Given the description of an element on the screen output the (x, y) to click on. 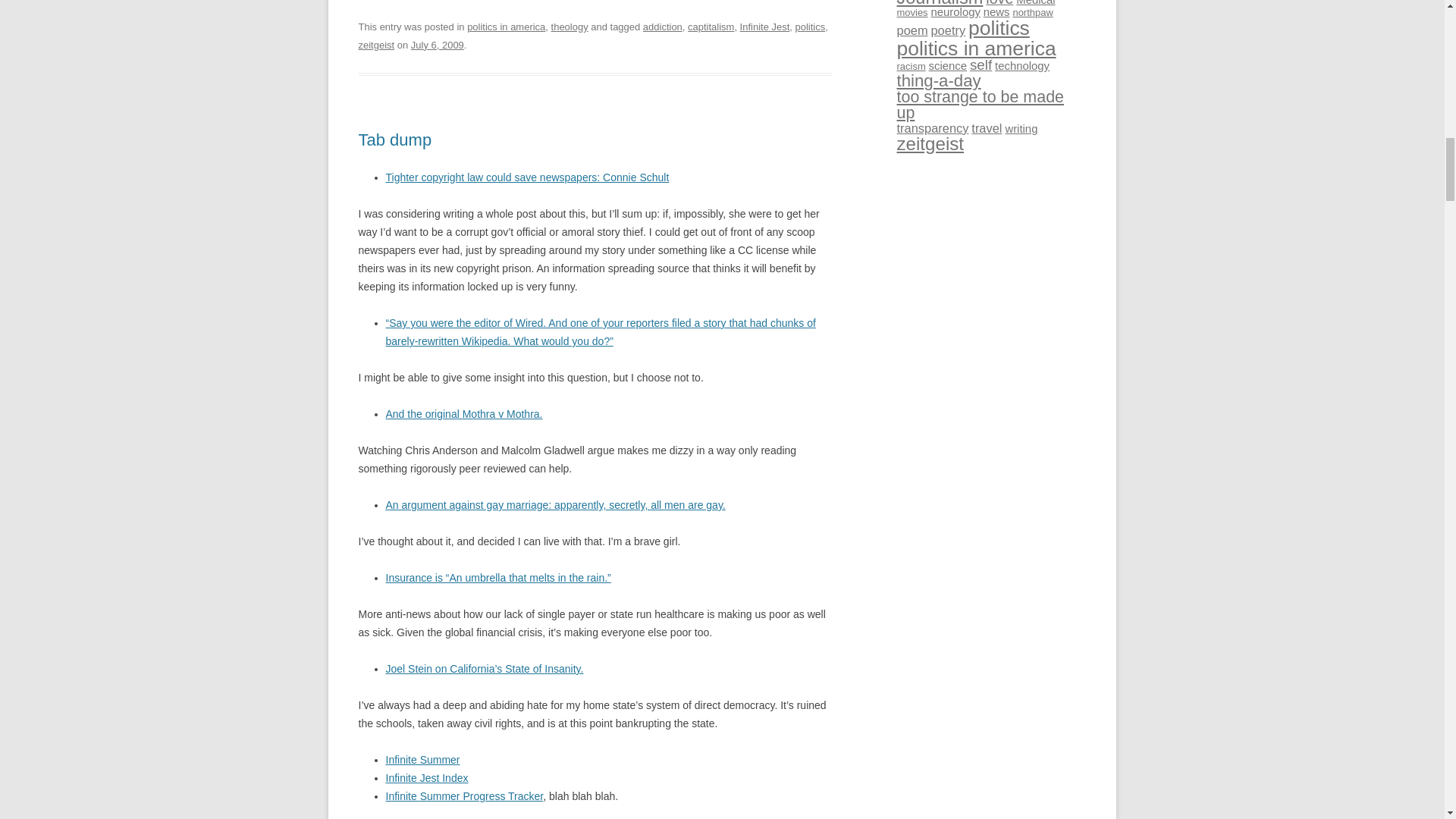
Infinite Summer (422, 759)
addiction (662, 26)
Infinite Jest Index (426, 777)
politics (809, 26)
Tighter copyright law could save newspapers: Connie Schult (526, 177)
And the original Mothra v Mothra. (463, 413)
theology (569, 26)
Infinite Summer Progress Tracker (464, 796)
July 6, 2009 (437, 44)
captitalism (710, 26)
